Given the description of an element on the screen output the (x, y) to click on. 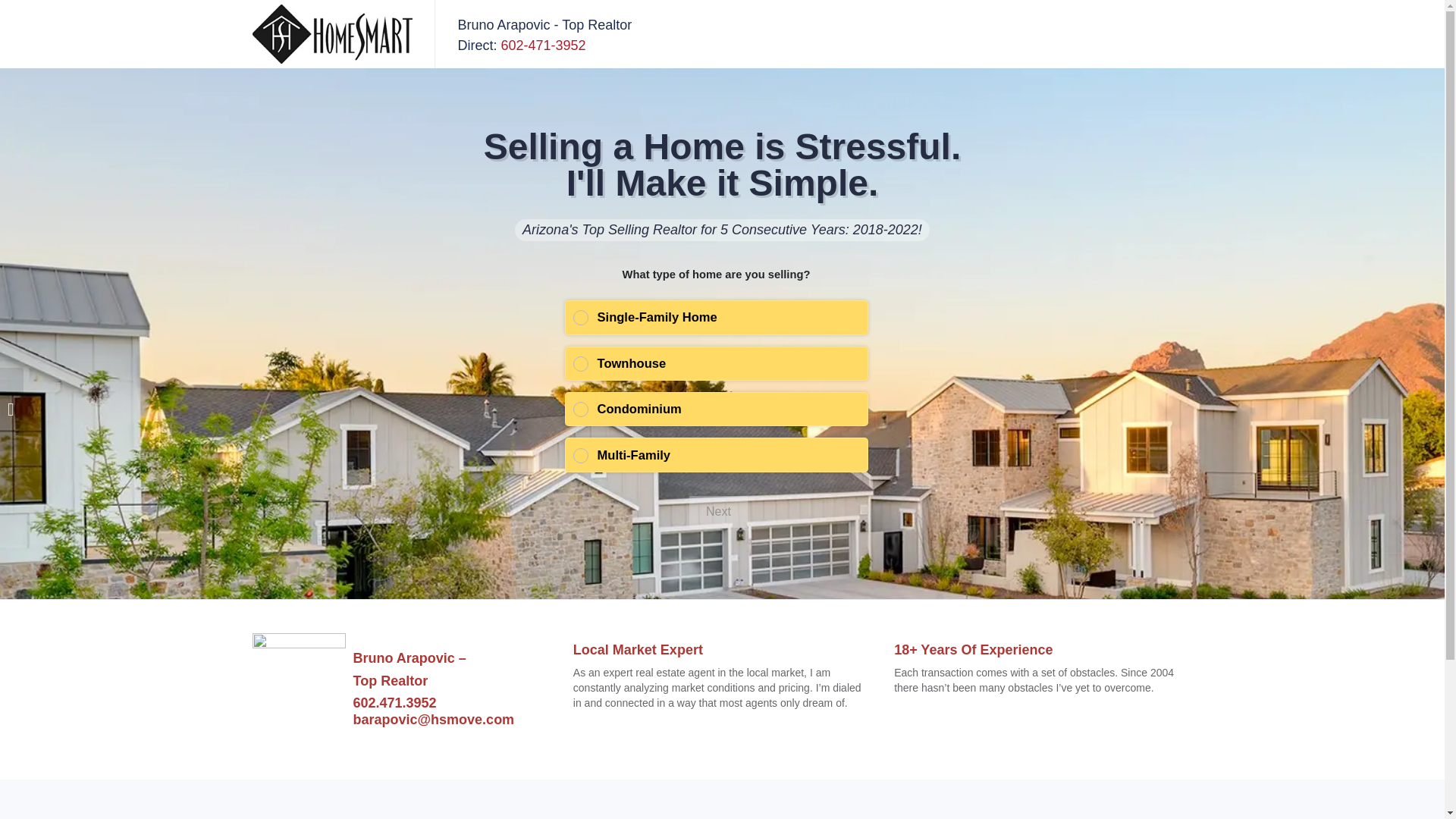
logo (331, 33)
602-471-3952 (543, 45)
Next (718, 511)
